Given the description of an element on the screen output the (x, y) to click on. 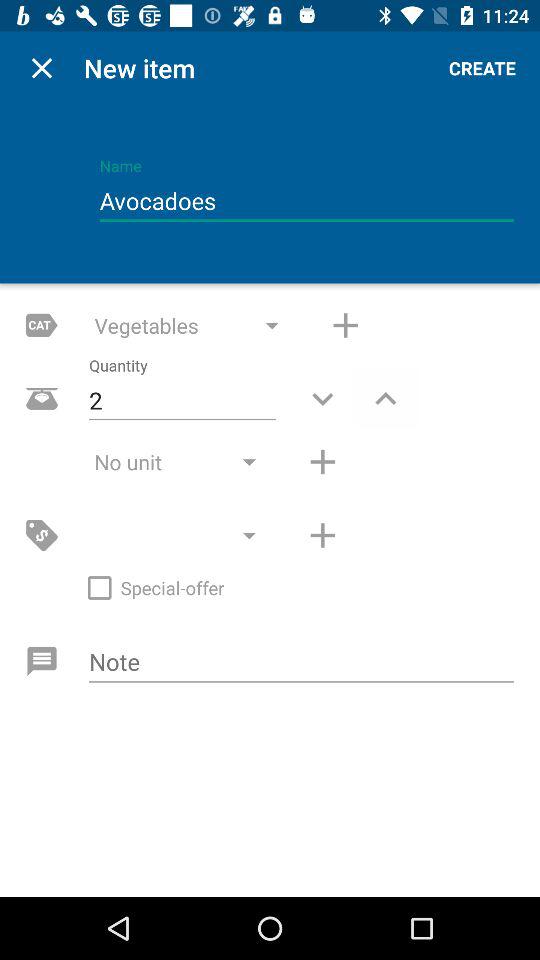
apps (345, 325)
